Given the description of an element on the screen output the (x, y) to click on. 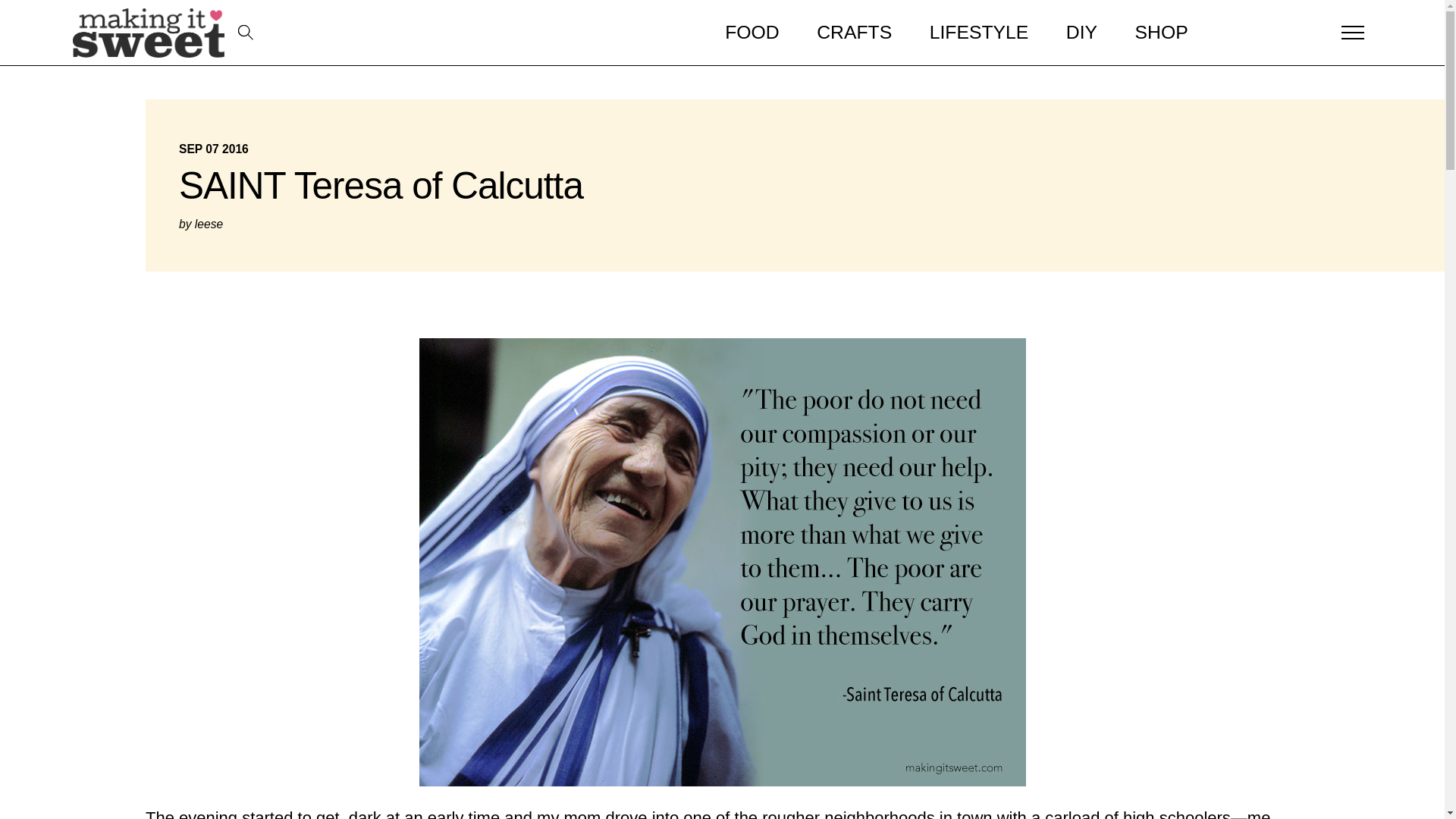
SHOP (1161, 32)
leese (208, 223)
LIFESTYLE (978, 32)
DIY (1081, 32)
CRAFTS (854, 32)
FOOD (751, 32)
